Given the description of an element on the screen output the (x, y) to click on. 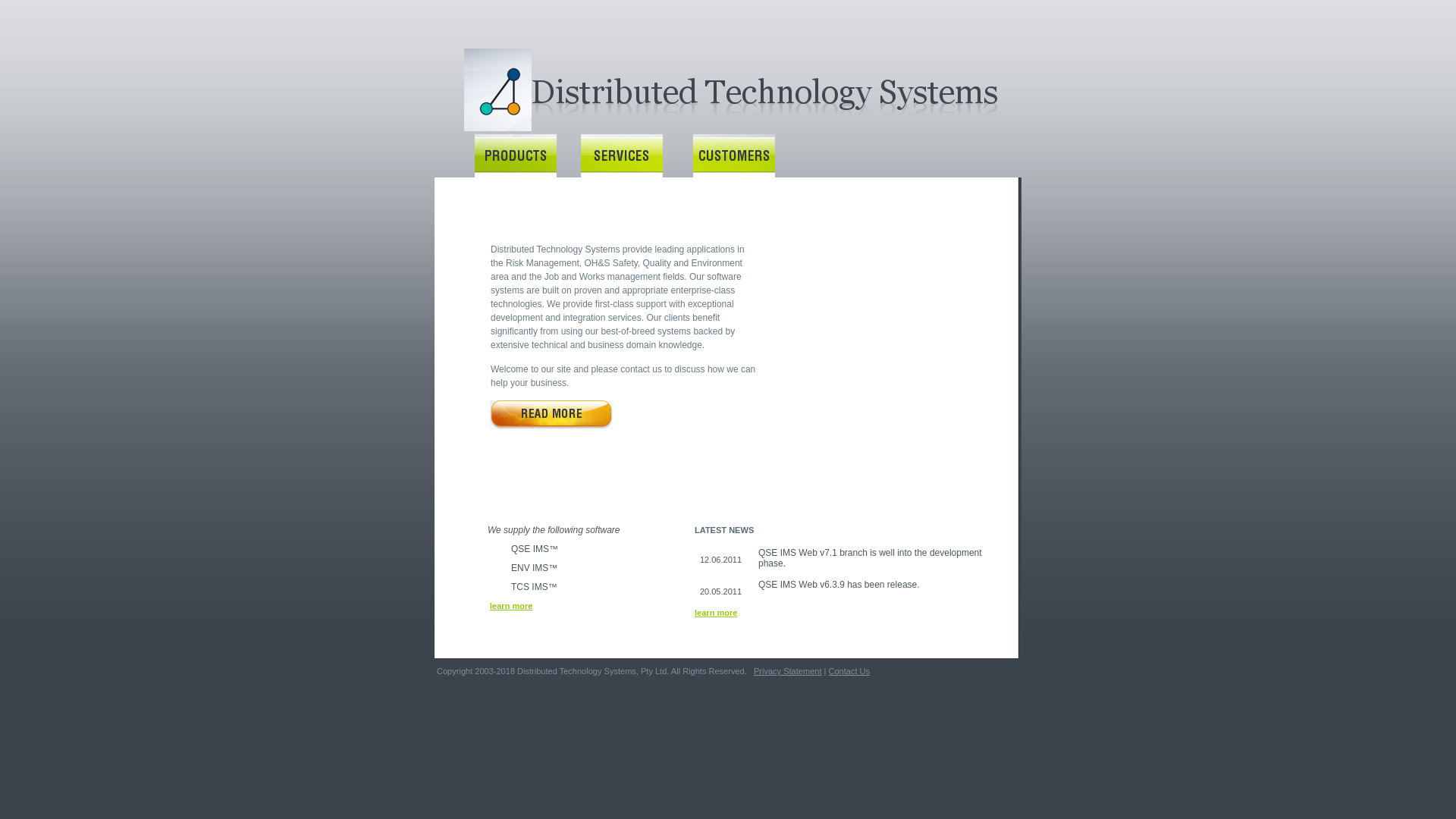
learn more Element type: text (719, 612)
Privacy Statement Element type: text (787, 670)
learn more Element type: text (514, 605)
Contact Us Element type: text (848, 670)
